Given the description of an element on the screen output the (x, y) to click on. 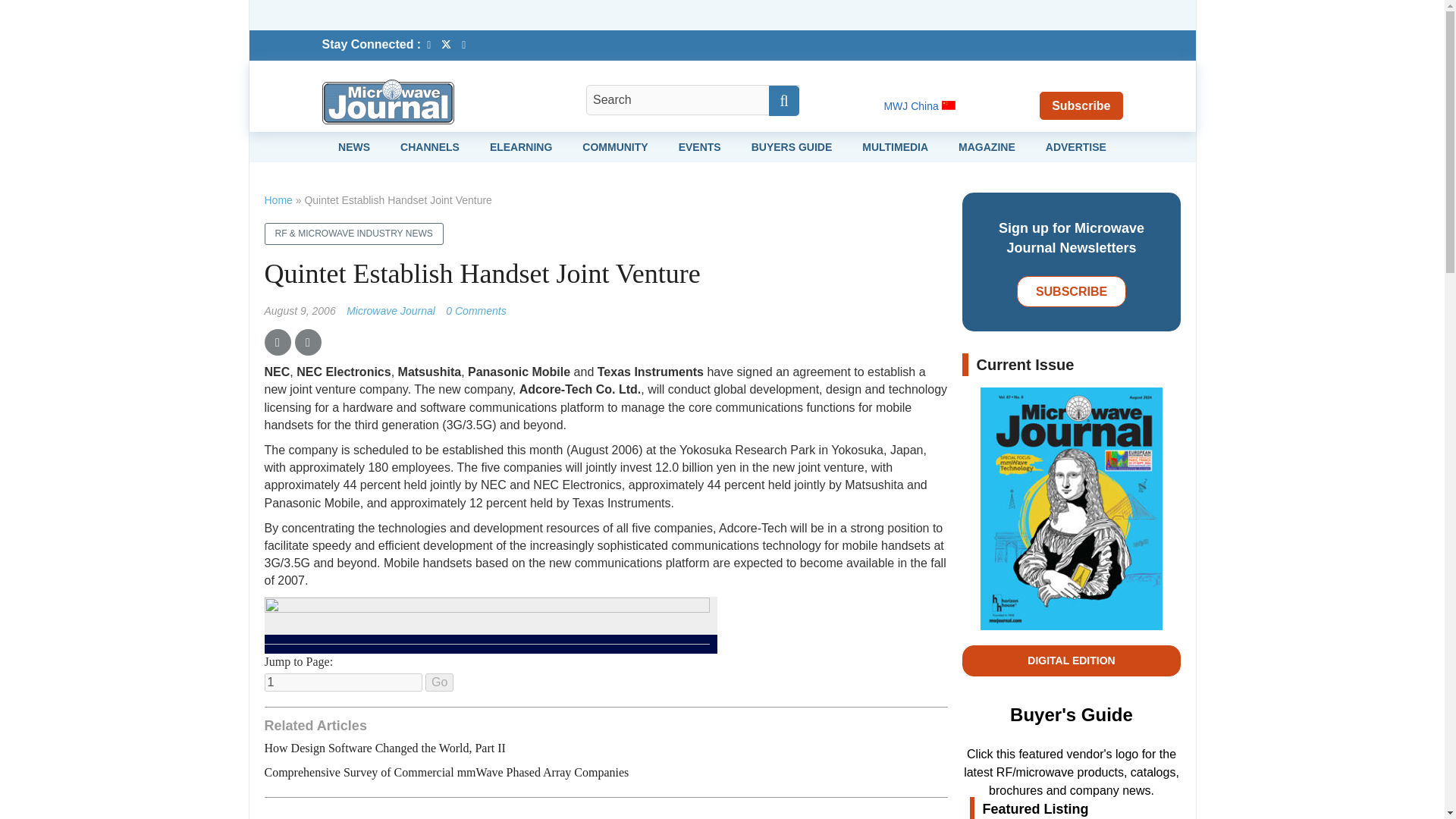
MWJ China (919, 105)
CHANNELS (430, 146)
ELEARNING (520, 146)
COMMUNITY (615, 146)
Subscribe (1080, 105)
Go (438, 682)
How Design Software Changed the World, Part II (384, 748)
NEWS (353, 146)
Quintet Establish Handset Joint Venture (475, 310)
